Given the description of an element on the screen output the (x, y) to click on. 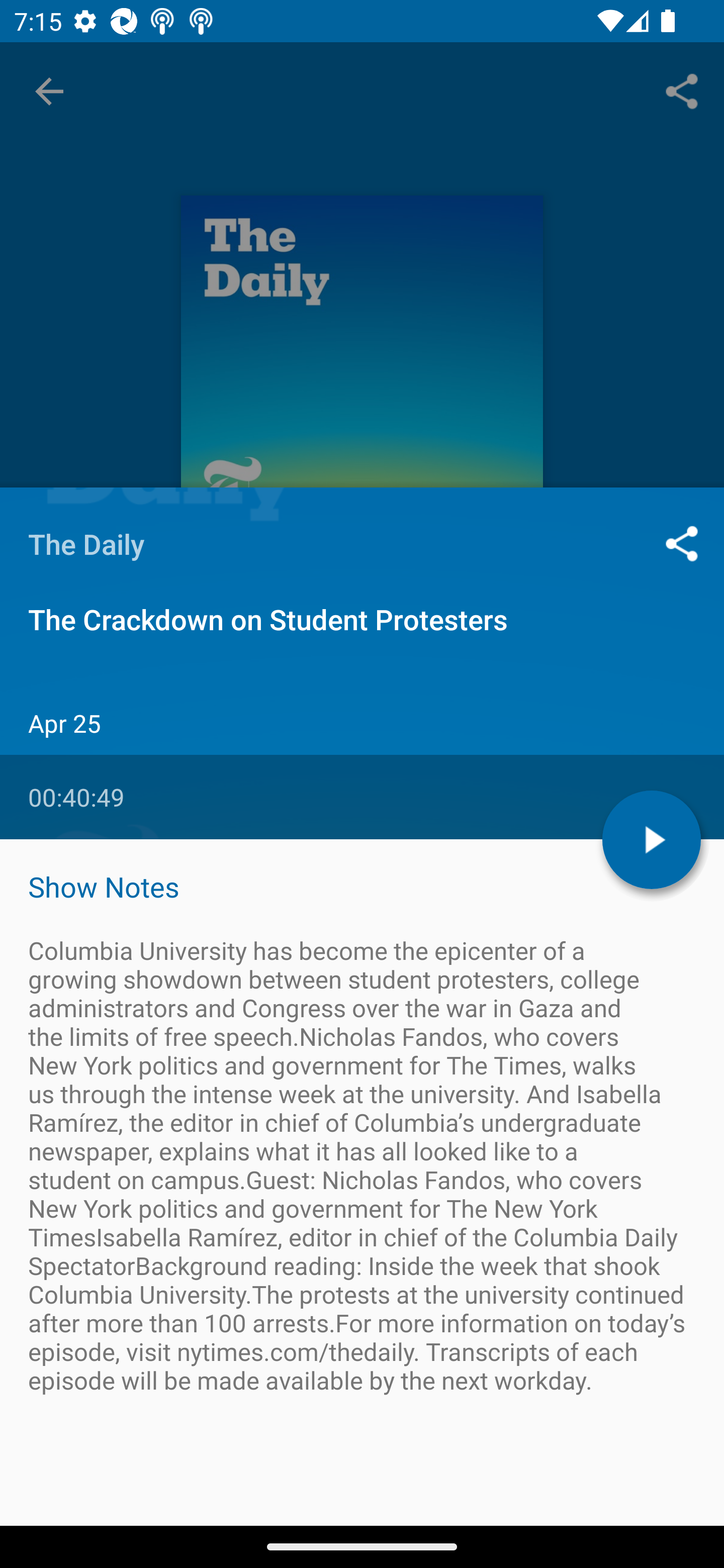
Apr 25 The Crackdown on Student Protesters (362, 867)
